Given the description of an element on the screen output the (x, y) to click on. 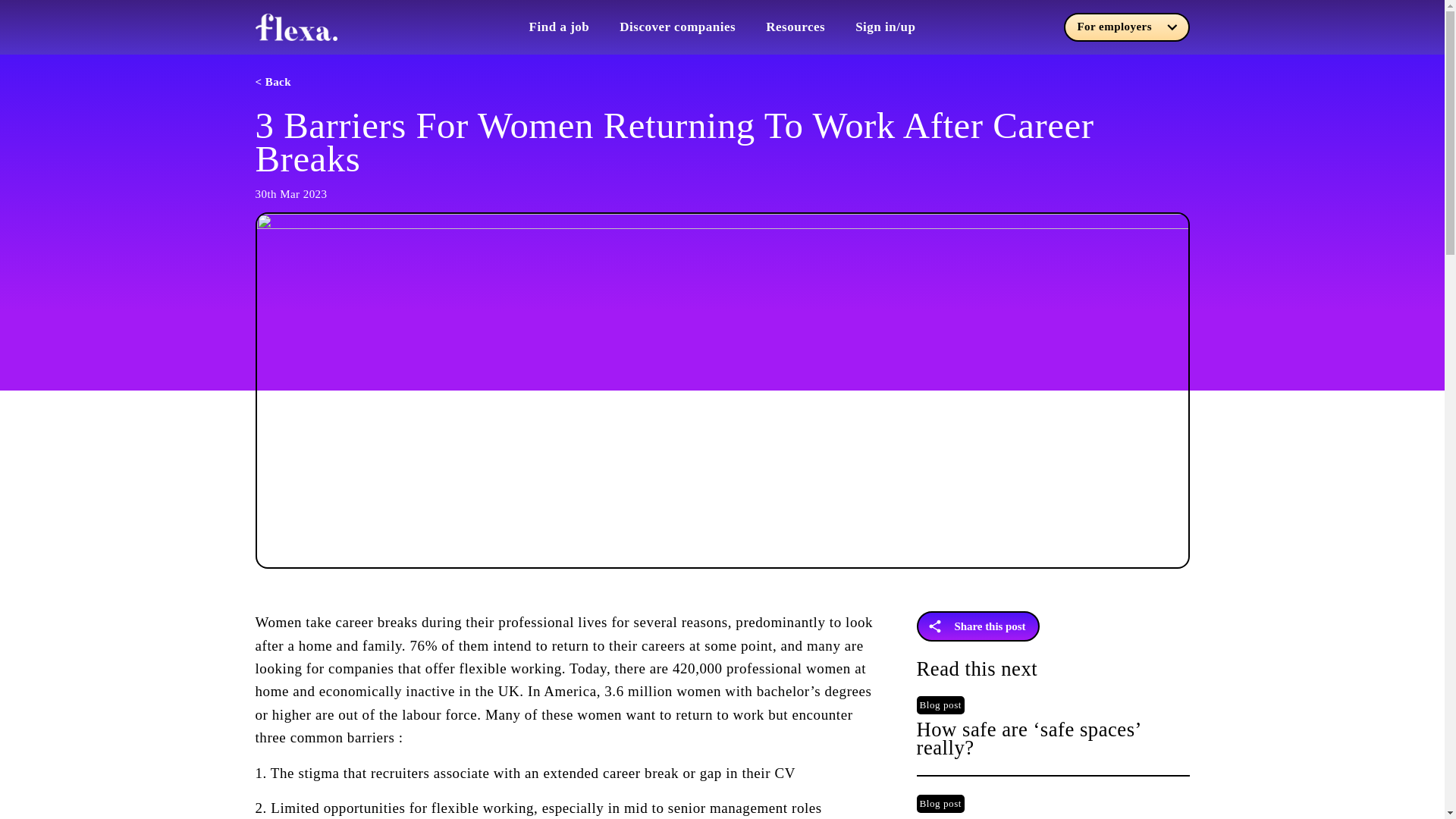
Find a job (559, 27)
For employers (1125, 27)
Resources (795, 27)
Share this post (977, 625)
Discover companies (677, 27)
